Given the description of an element on the screen output the (x, y) to click on. 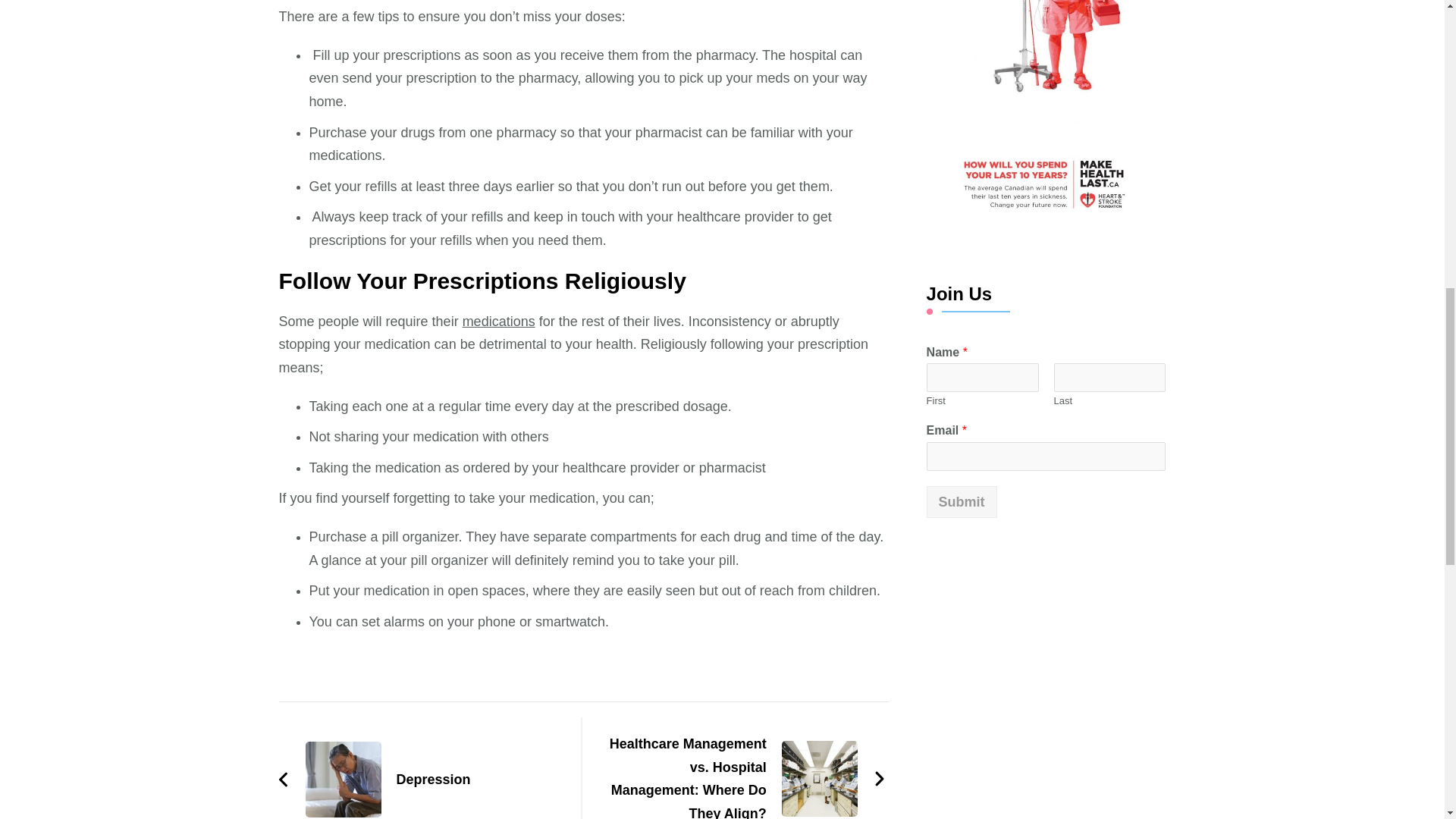
Depression (374, 779)
medications (499, 321)
